Given the description of an element on the screen output the (x, y) to click on. 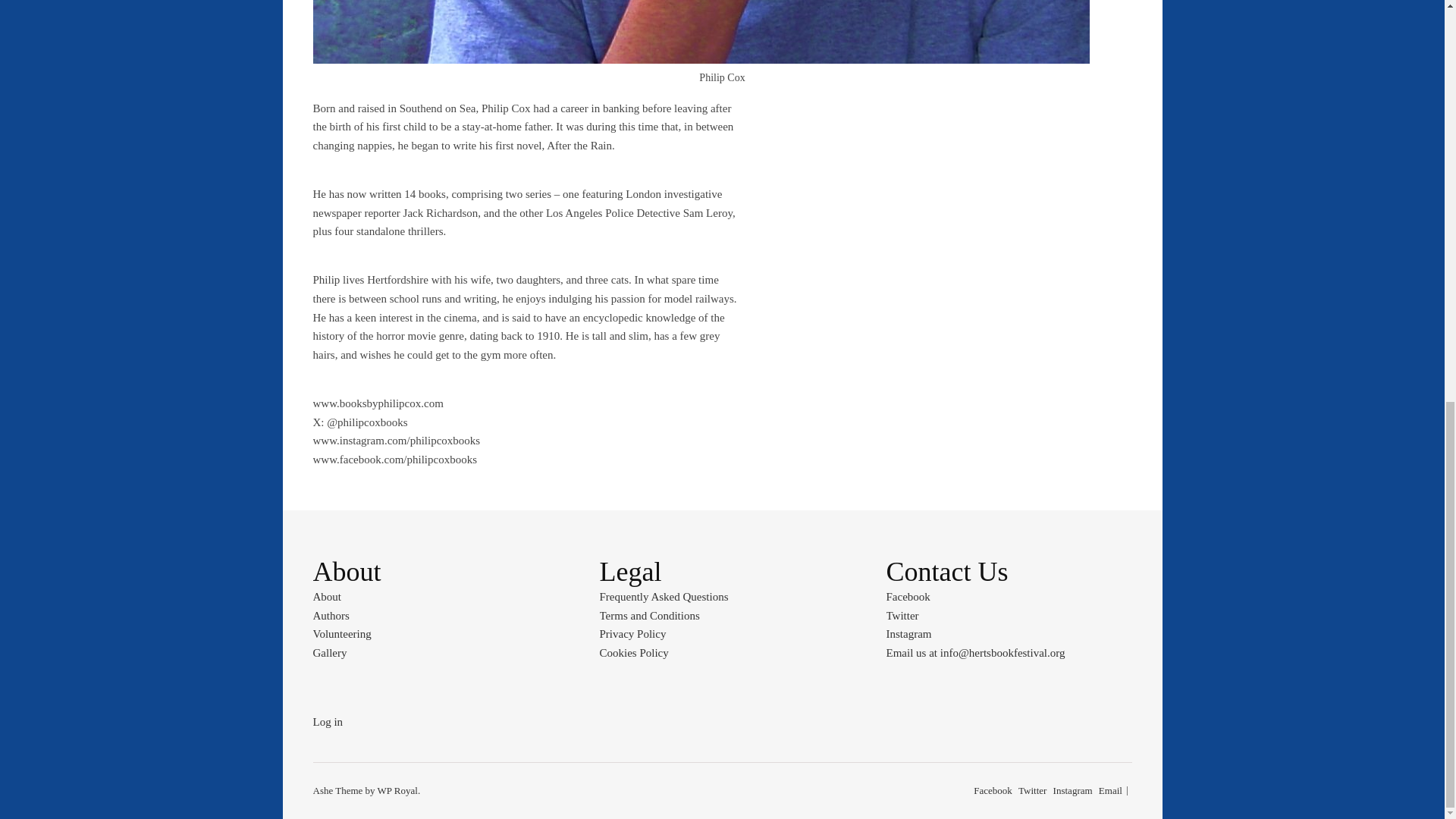
Volunteering (342, 633)
About (326, 596)
Facebook (992, 790)
Instagram (1072, 790)
Instagram (908, 633)
Facebook (907, 596)
Terms and Conditions (648, 615)
WP Royal (397, 790)
Twitter (901, 615)
Gallery (329, 653)
